Given the description of an element on the screen output the (x, y) to click on. 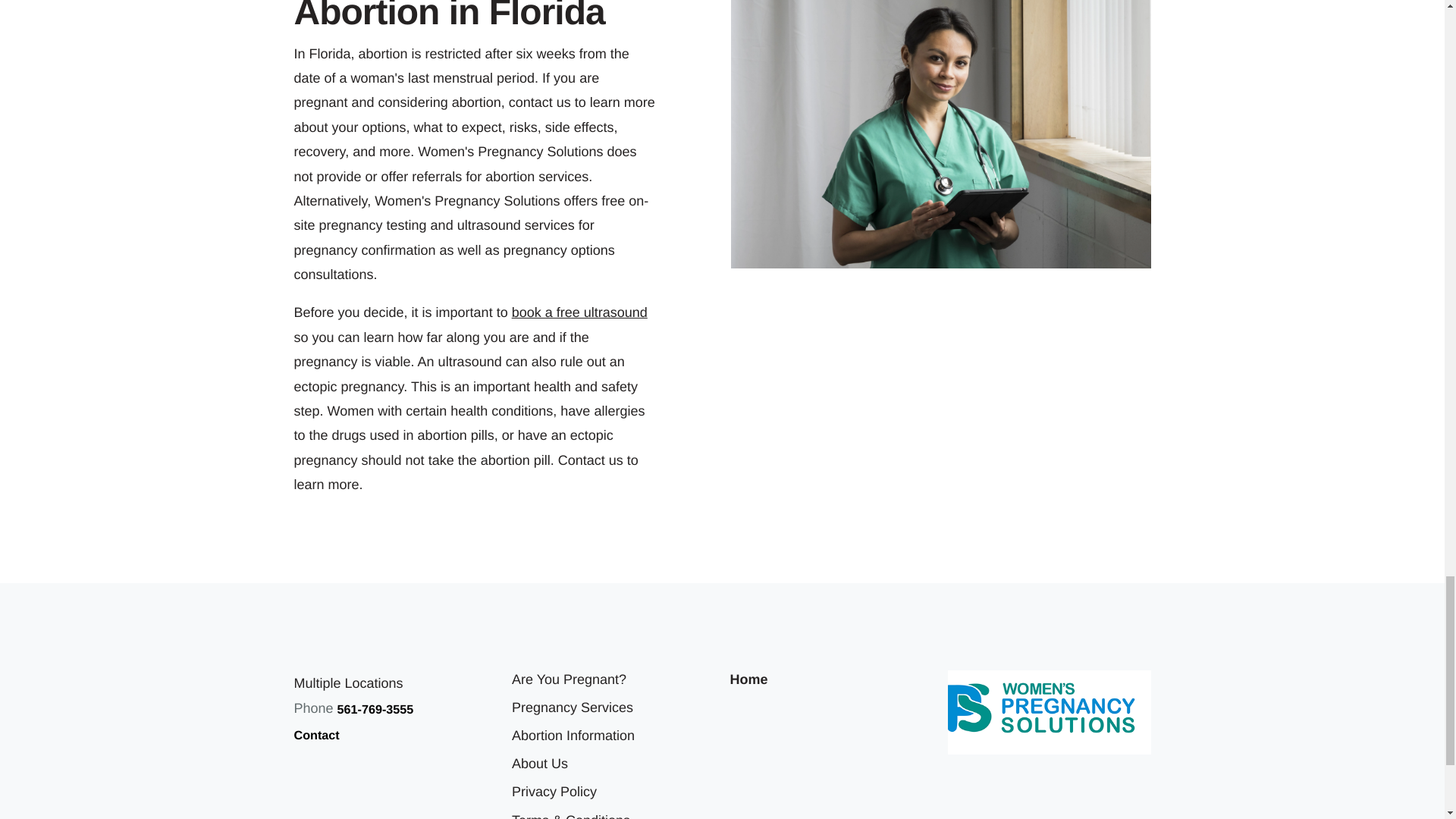
logo (1049, 712)
